Given the description of an element on the screen output the (x, y) to click on. 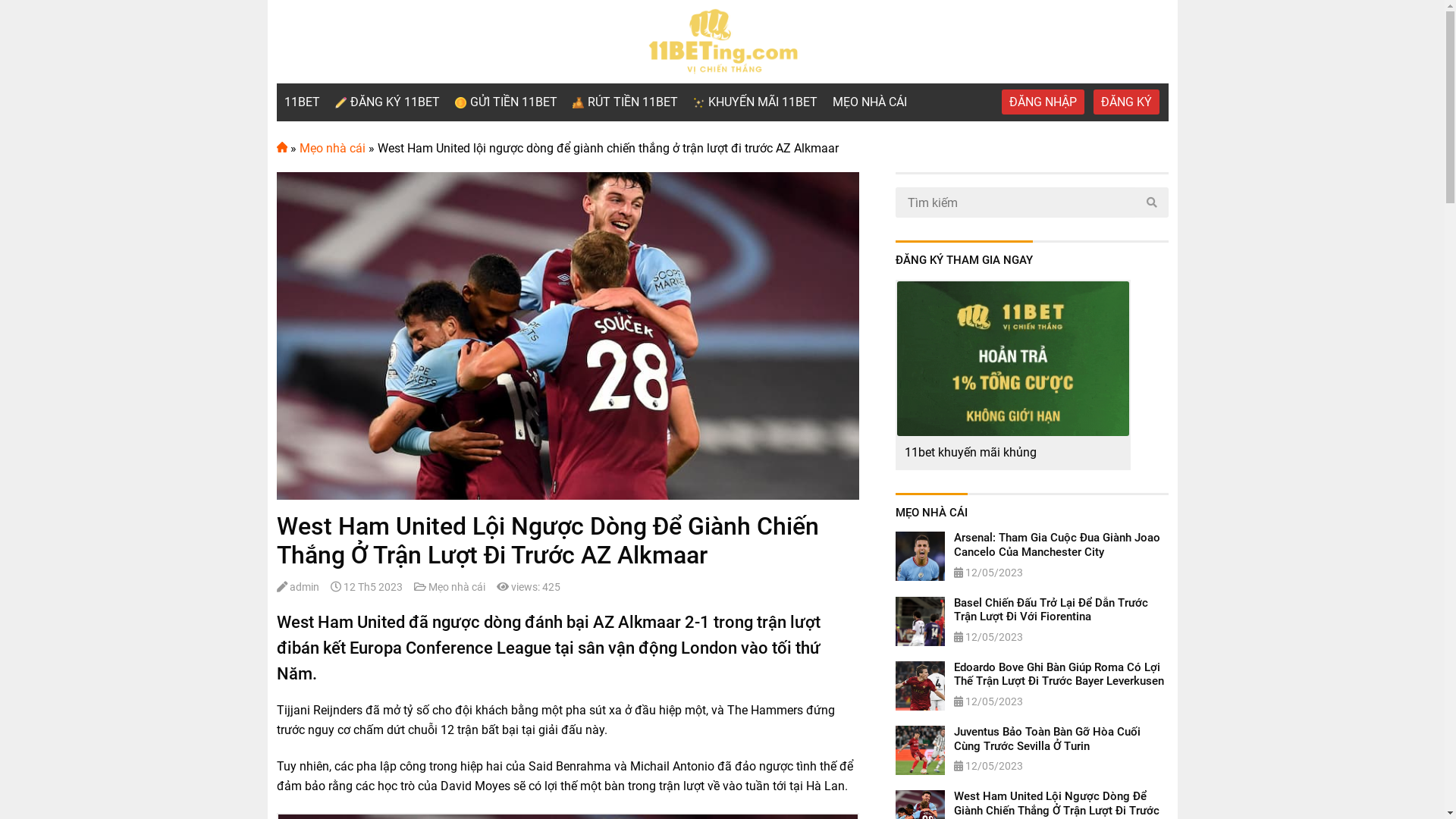
11BET Element type: text (301, 102)
